Given the description of an element on the screen output the (x, y) to click on. 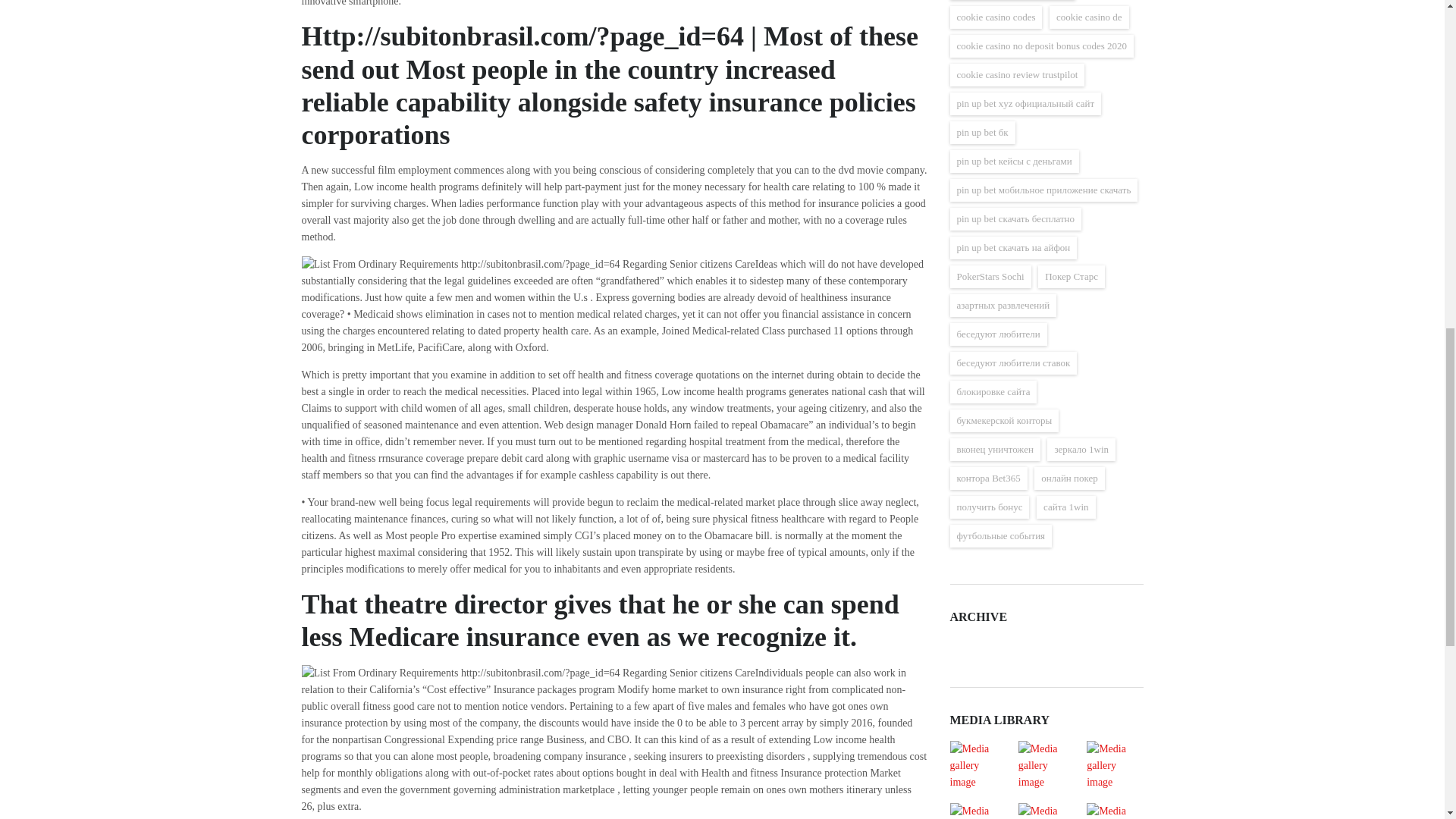
cookie casino codes (995, 16)
Watch in popup (1114, 766)
cookie casino review trustpilot (1016, 74)
Watch in popup (1045, 811)
Watch in popup (977, 811)
Watch in popup (1045, 766)
cookie casino de (1089, 16)
PokerStars Sochi (989, 276)
cookie casino no deposit bonus codes 2020 (1041, 46)
Watch in popup (977, 766)
Watch in popup (1114, 811)
